Given the description of an element on the screen output the (x, y) to click on. 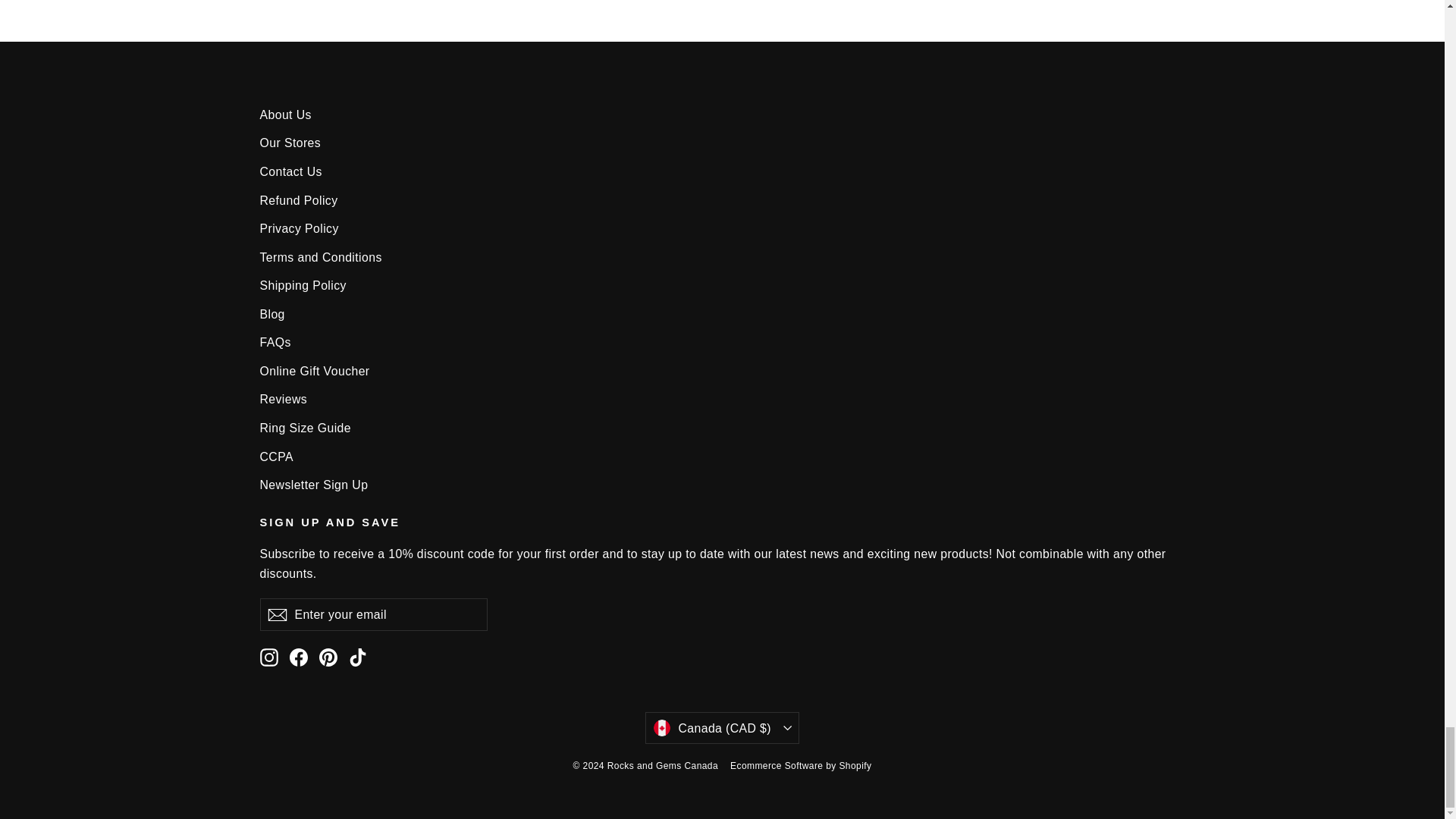
Rocks and Gems Canada on Pinterest (327, 656)
Rocks and Gems Canada on TikTok (357, 656)
icon-email (276, 615)
Rocks and Gems Canada on Facebook (298, 656)
instagram (268, 657)
